Given the description of an element on the screen output the (x, y) to click on. 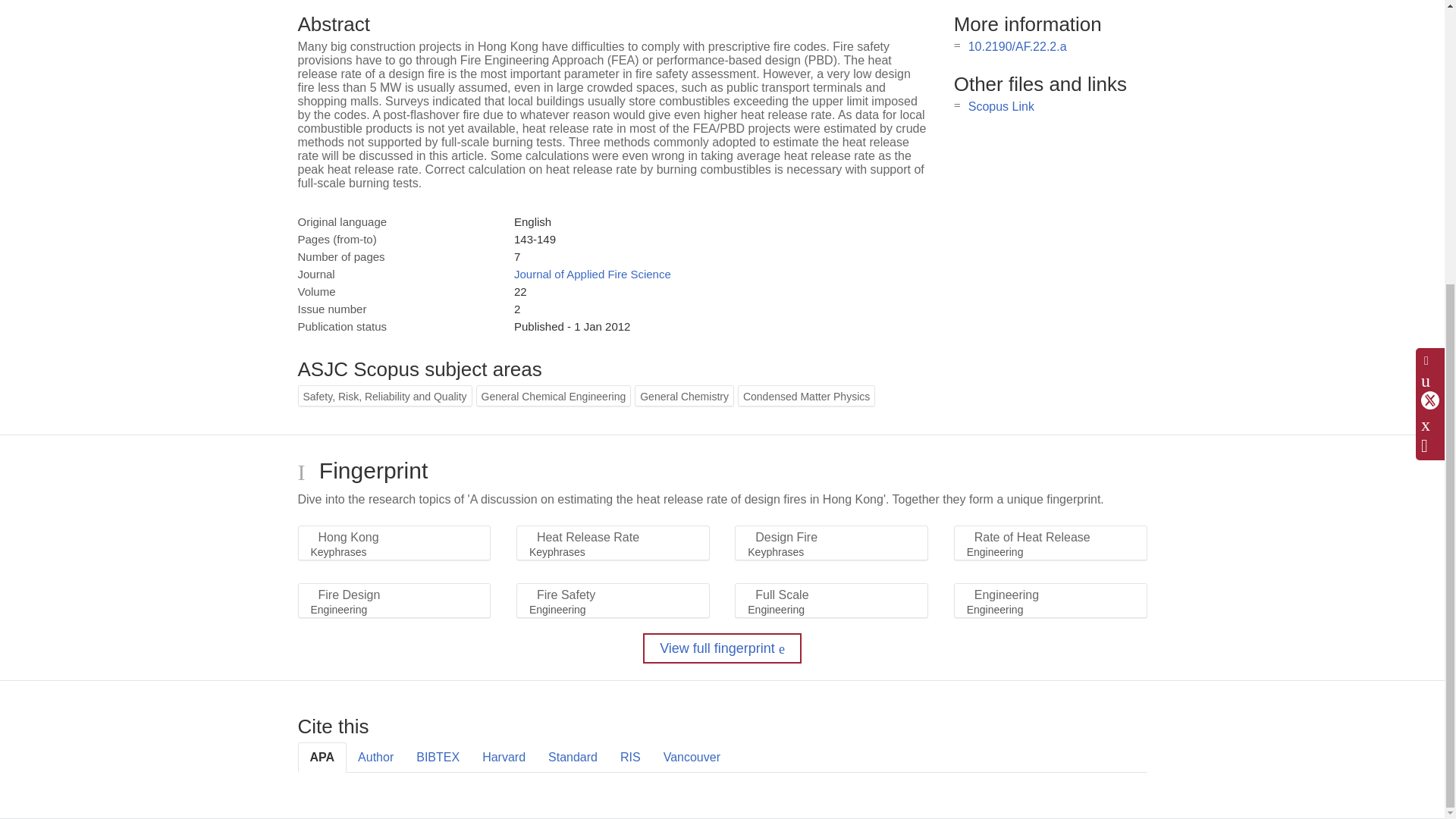
Journal of Applied Fire Science (592, 273)
Scopus Link (1000, 106)
View full fingerprint (722, 648)
